Given the description of an element on the screen output the (x, y) to click on. 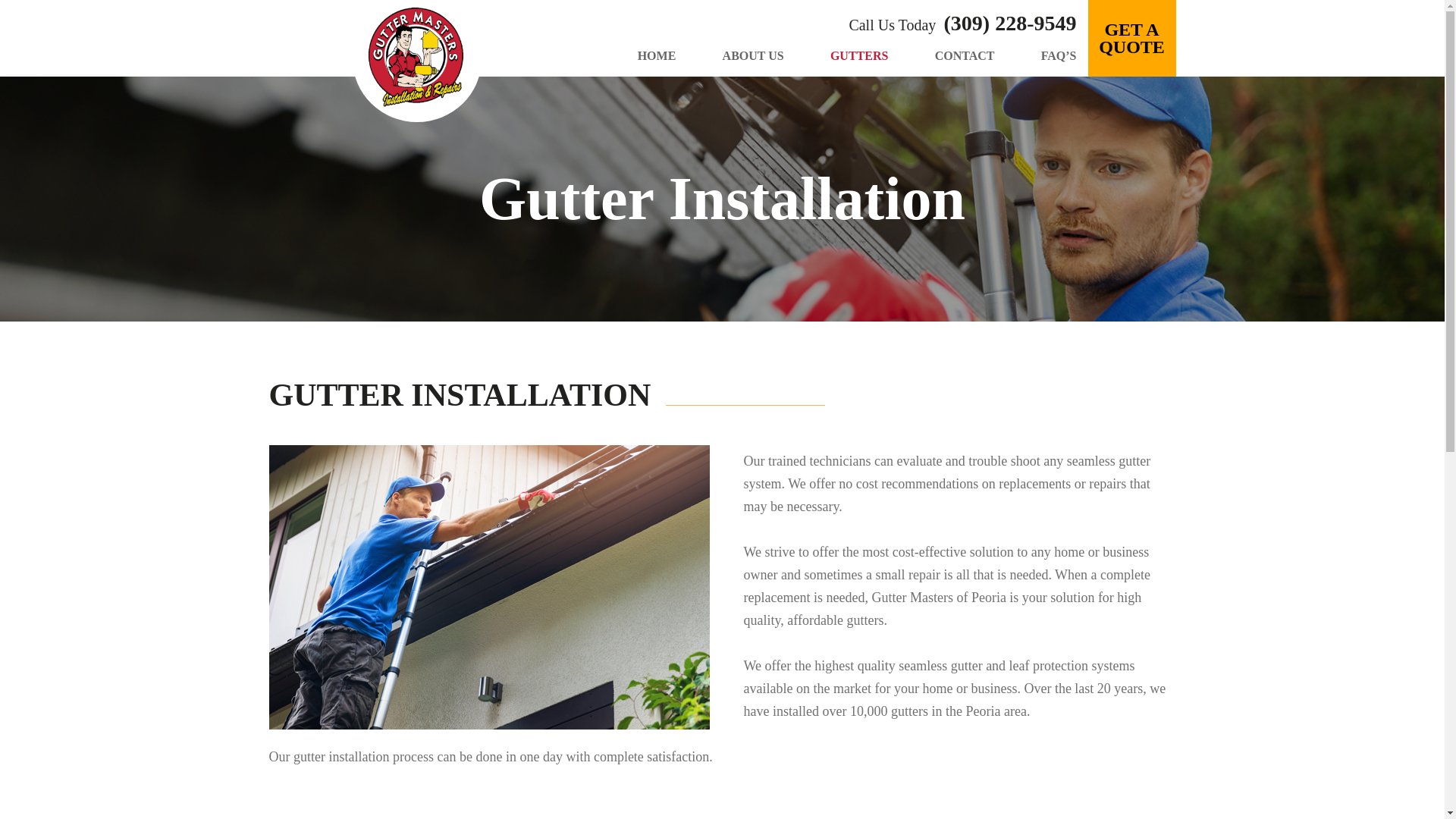
GET A QUOTE (1131, 38)
CONTACT (964, 55)
GUTTERS (858, 55)
ABOUT US (753, 55)
HOME (657, 55)
